Given the description of an element on the screen output the (x, y) to click on. 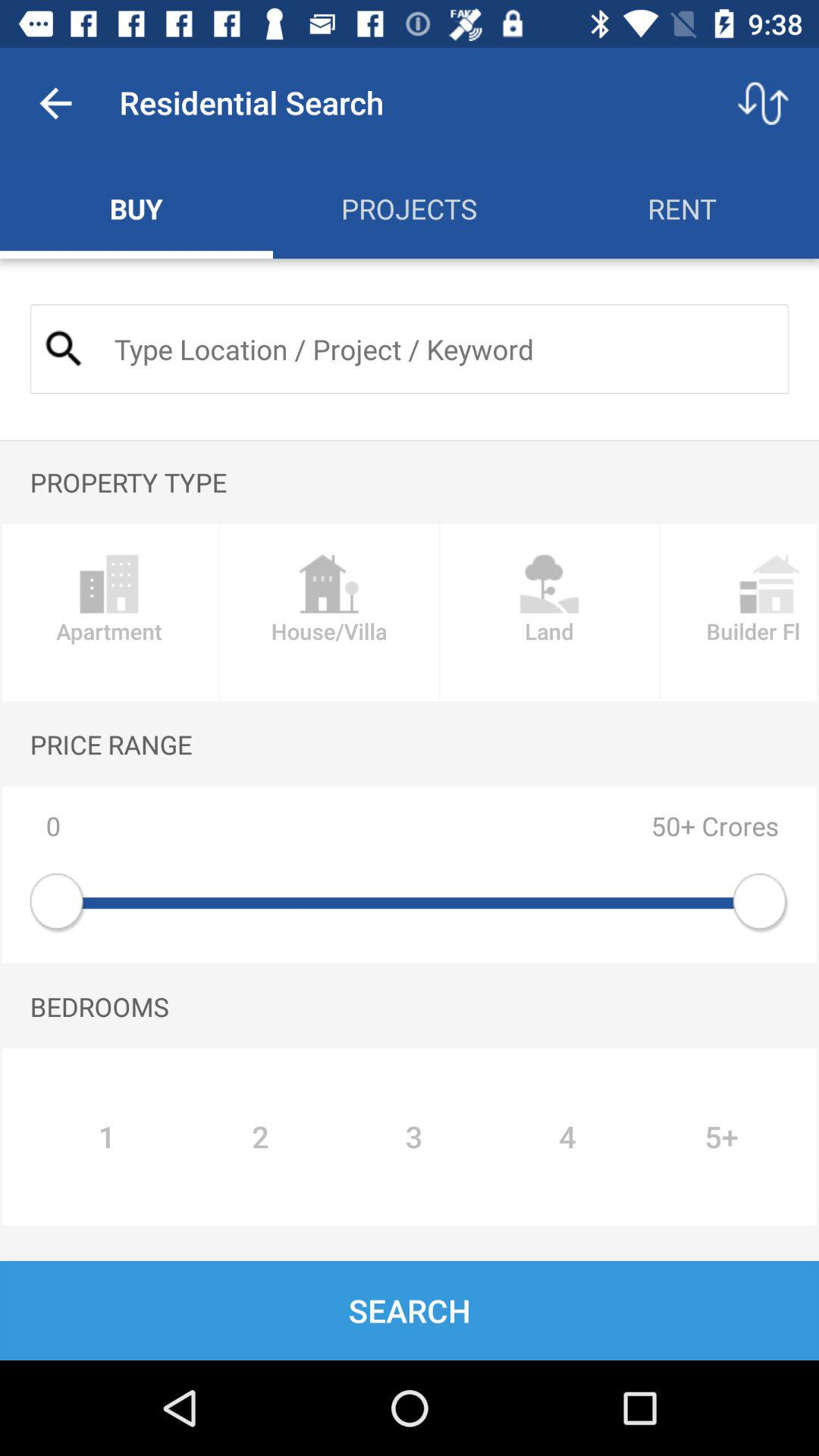
click the land (549, 612)
